Given the description of an element on the screen output the (x, y) to click on. 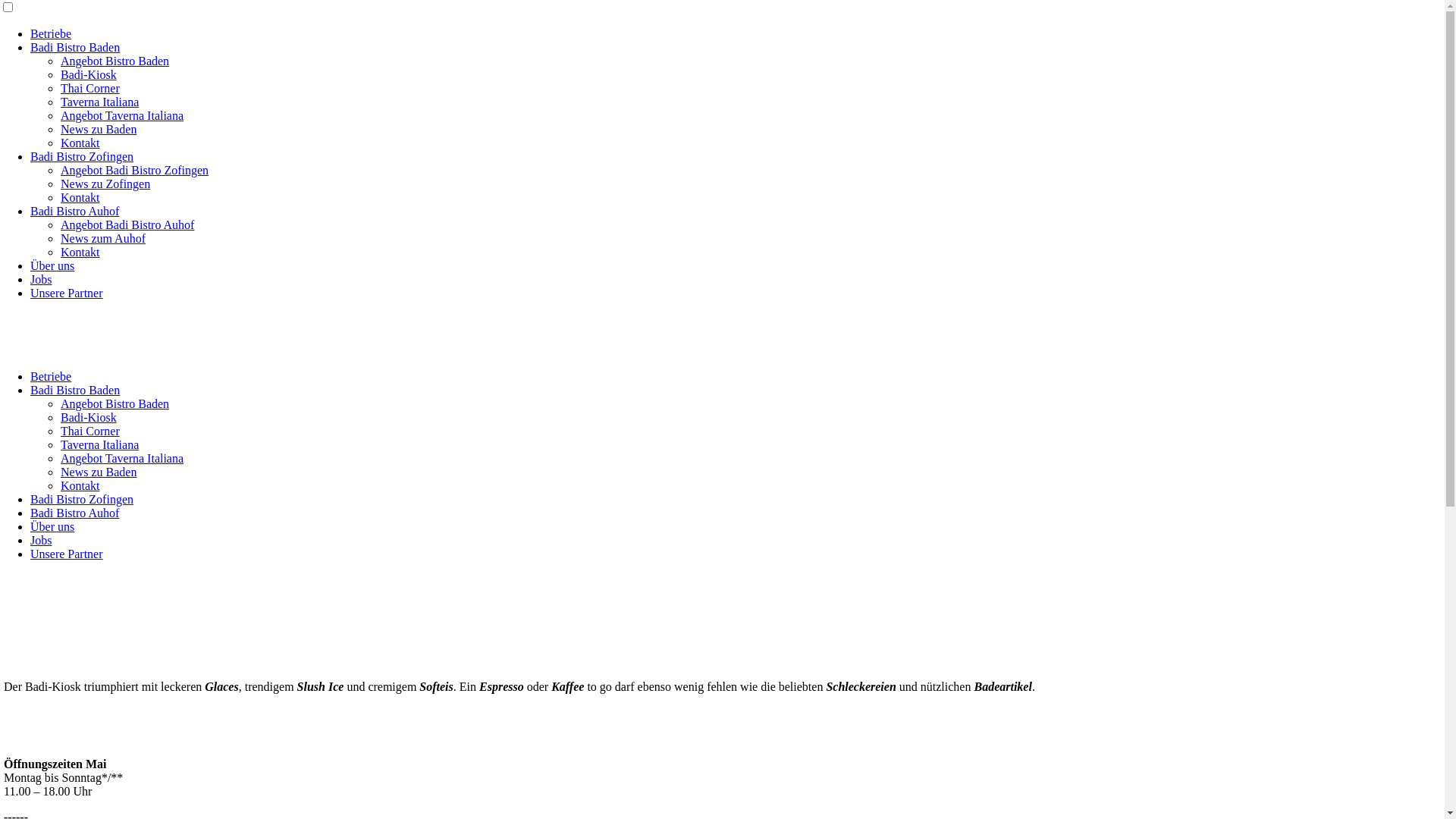
Angebot Taverna Italiana Element type: text (121, 115)
News zum Auhof Element type: text (102, 238)
Badi Bistro Zofingen Element type: text (81, 498)
Unsere Partner Element type: text (66, 553)
Badi Bistro Baden Element type: text (74, 46)
Angebot Taverna Italiana Element type: text (121, 457)
Kontakt Element type: text (80, 251)
Jobs Element type: text (40, 279)
Angebot Bistro Baden Element type: text (114, 403)
Angebot Badi Bistro Zofingen Element type: text (134, 169)
Unsere Partner Element type: text (66, 292)
Badi Bistro Auhof Element type: text (74, 210)
Kontakt Element type: text (80, 485)
Taverna Italiana Element type: text (99, 444)
Taverna Italiana Element type: text (99, 101)
News zu Baden Element type: text (98, 128)
Badi-Kiosk Element type: text (88, 74)
Thai Corner Element type: text (89, 430)
Angebot Badi Bistro Auhof Element type: text (127, 224)
Thai Corner Element type: text (89, 87)
Kontakt Element type: text (80, 197)
Badi Bistro Auhof Element type: text (74, 512)
Jobs Element type: text (40, 539)
News zu Baden Element type: text (98, 471)
Badi Bistro Zofingen Element type: text (81, 156)
Badi-Kiosk Element type: text (88, 417)
News zu Zofingen Element type: text (105, 183)
Betriebe Element type: text (50, 376)
Badi Bistro Baden Element type: text (74, 389)
Kontakt Element type: text (80, 142)
Angebot Bistro Baden Element type: text (114, 60)
Betriebe Element type: text (50, 33)
